Given the description of an element on the screen output the (x, y) to click on. 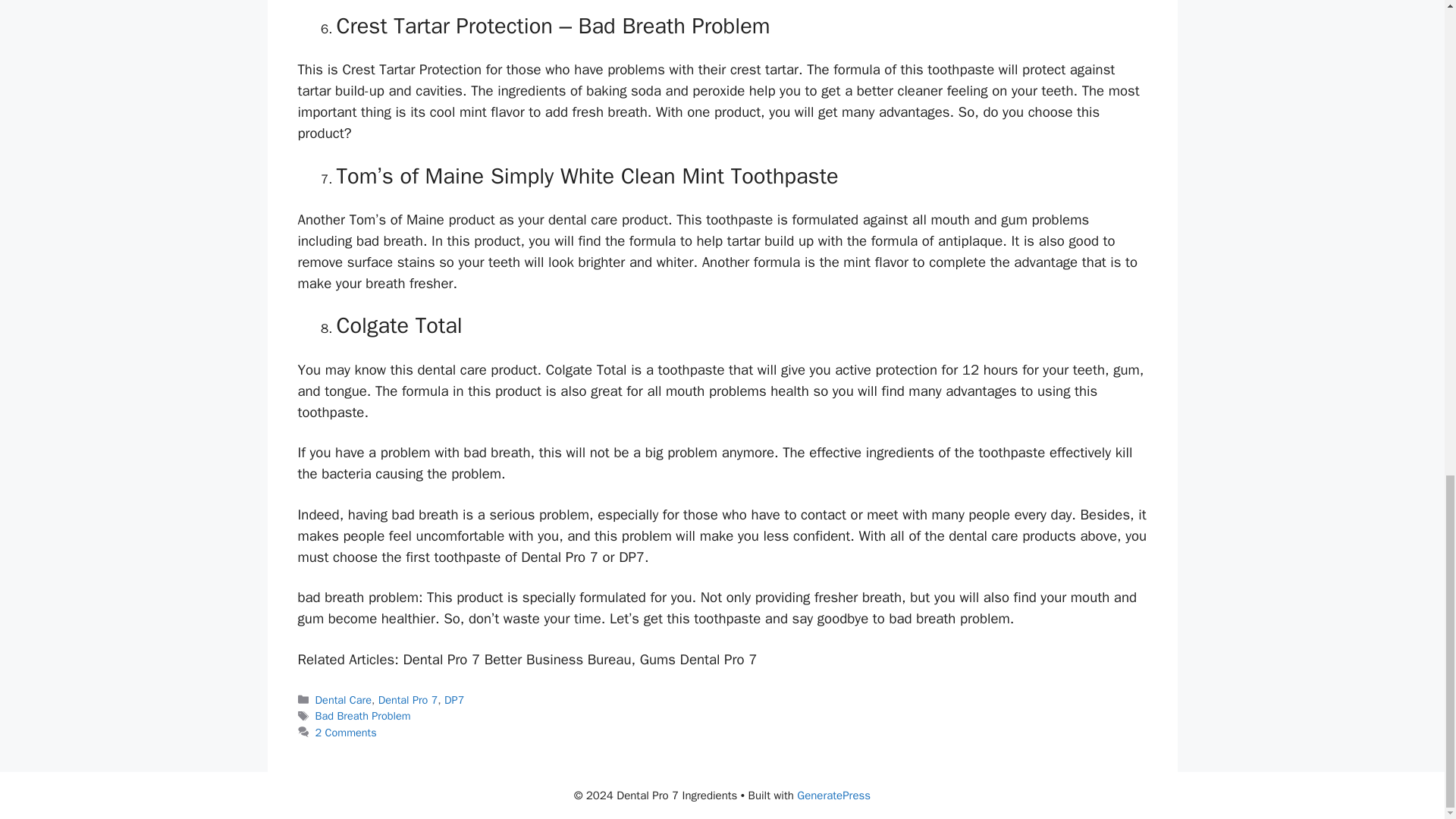
Dental Care (343, 699)
DP7 (454, 699)
GeneratePress (833, 795)
2 Comments (346, 732)
Dental Pro 7 (408, 699)
Bad Breath Problem (362, 715)
